Given the description of an element on the screen output the (x, y) to click on. 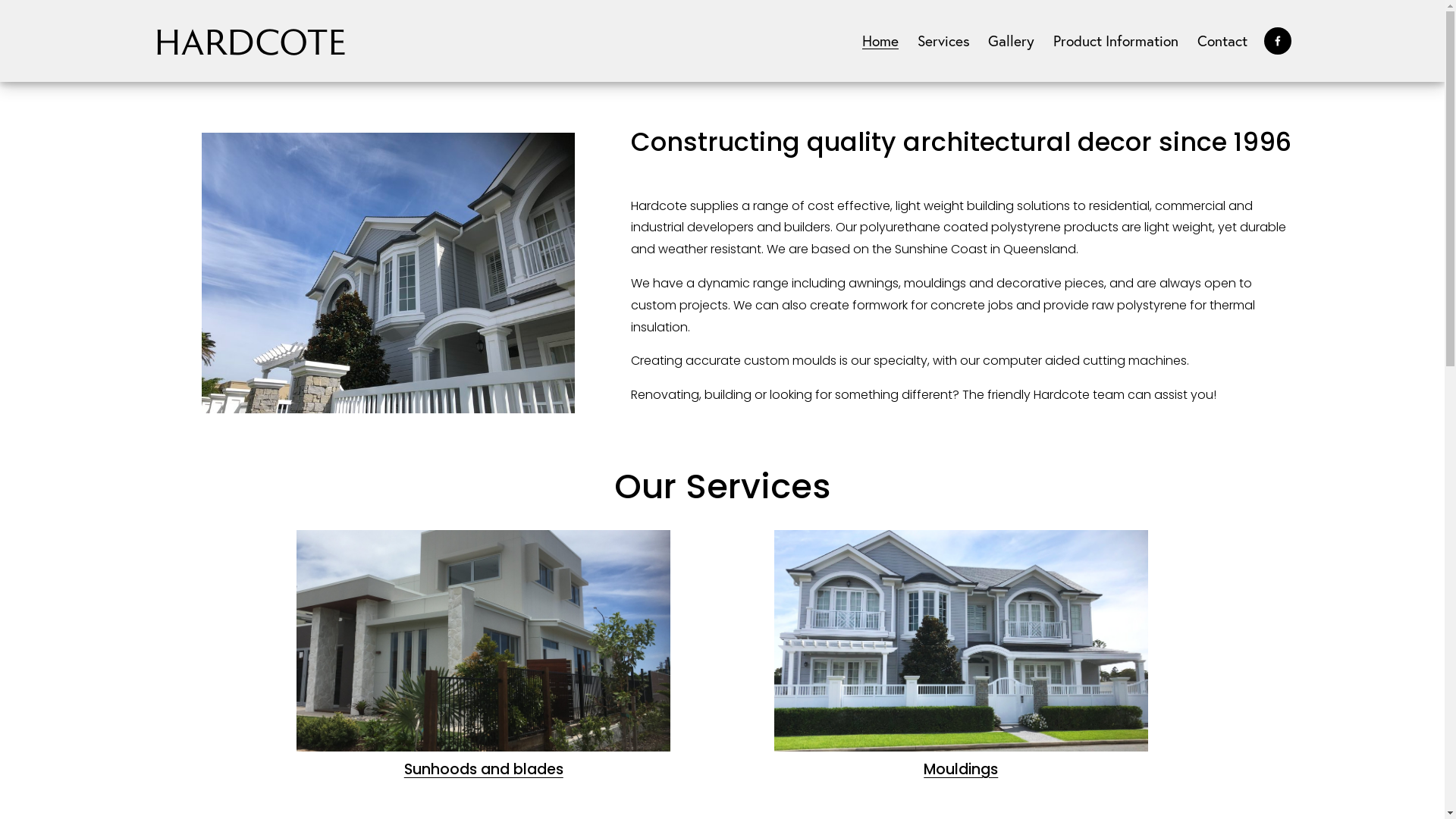
Services Element type: text (943, 40)
Contact Element type: text (1222, 40)
Hardcote Element type: text (249, 39)
Gallery Element type: text (1011, 40)
Home Element type: text (880, 40)
Product Information Element type: text (1115, 40)
Mouldings Element type: text (960, 769)
Sunhoods and blades Element type: text (483, 769)
